Given the description of an element on the screen output the (x, y) to click on. 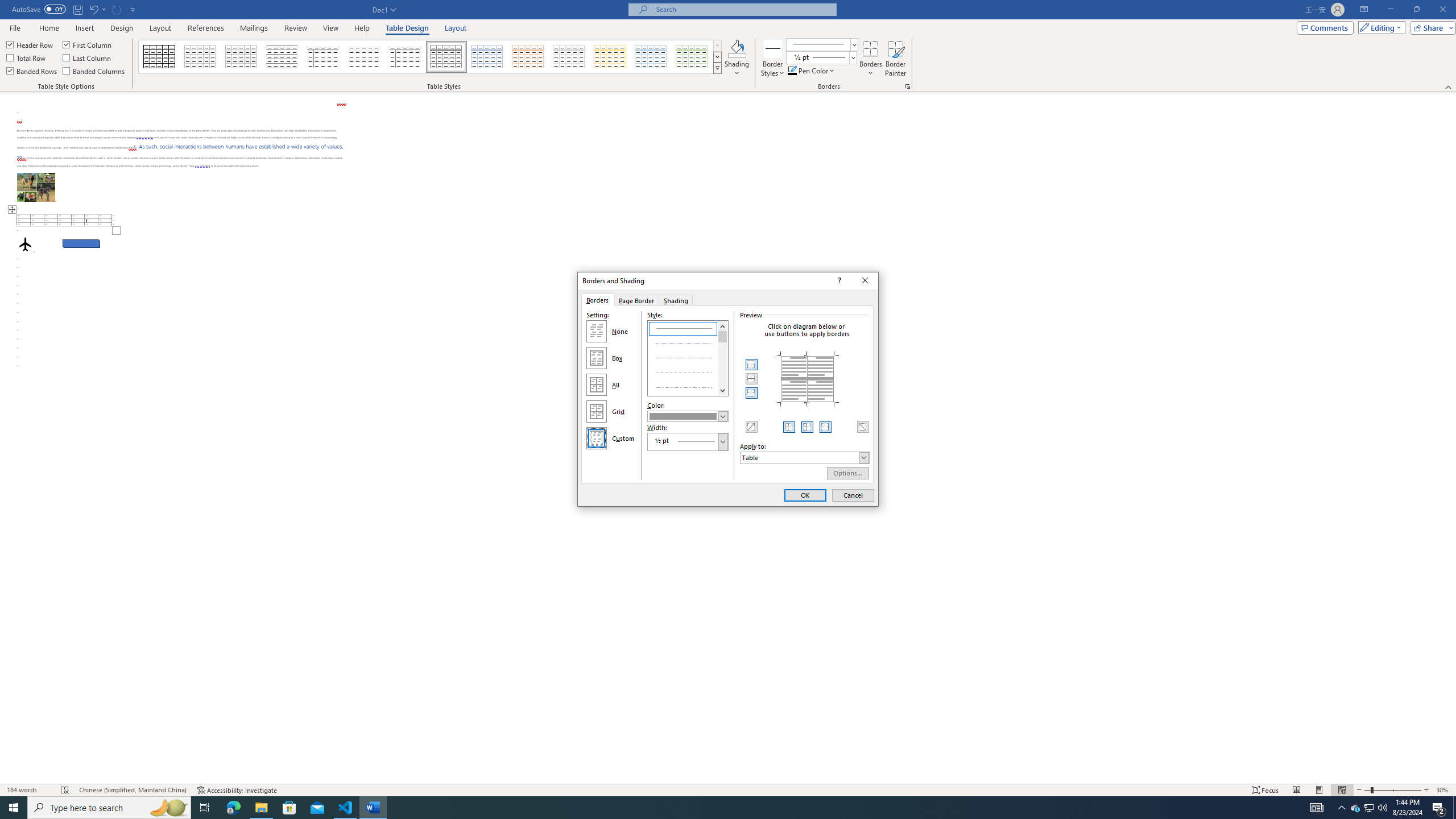
Pen Style (821, 44)
Page Border (635, 299)
Border Styles (773, 48)
Accessibility Checker Accessibility: Investigate (237, 790)
Pen Weight (821, 56)
Box (596, 358)
Word Count 184 words (28, 790)
Dashed (small gap) (687, 356)
Undo Row Height Spinner (92, 9)
Task View (204, 807)
Class: NetUIScrollBar (1450, 437)
Pen Color RGB(0, 0, 0) (791, 69)
